Given the description of an element on the screen output the (x, y) to click on. 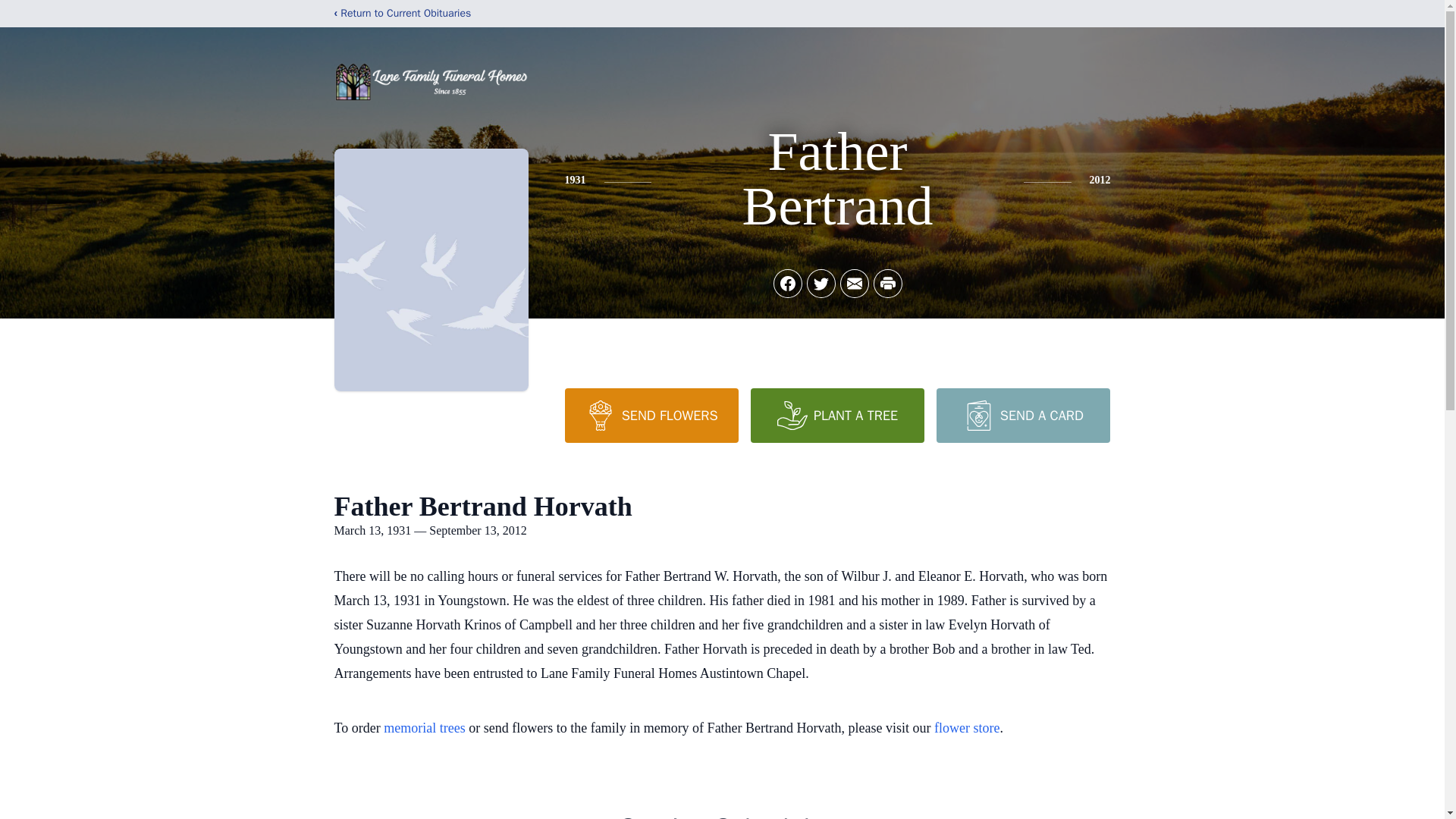
SEND A CARD (1022, 415)
SEND FLOWERS (651, 415)
memorial trees (424, 727)
flower store (966, 727)
PLANT A TREE (837, 415)
